Given the description of an element on the screen output the (x, y) to click on. 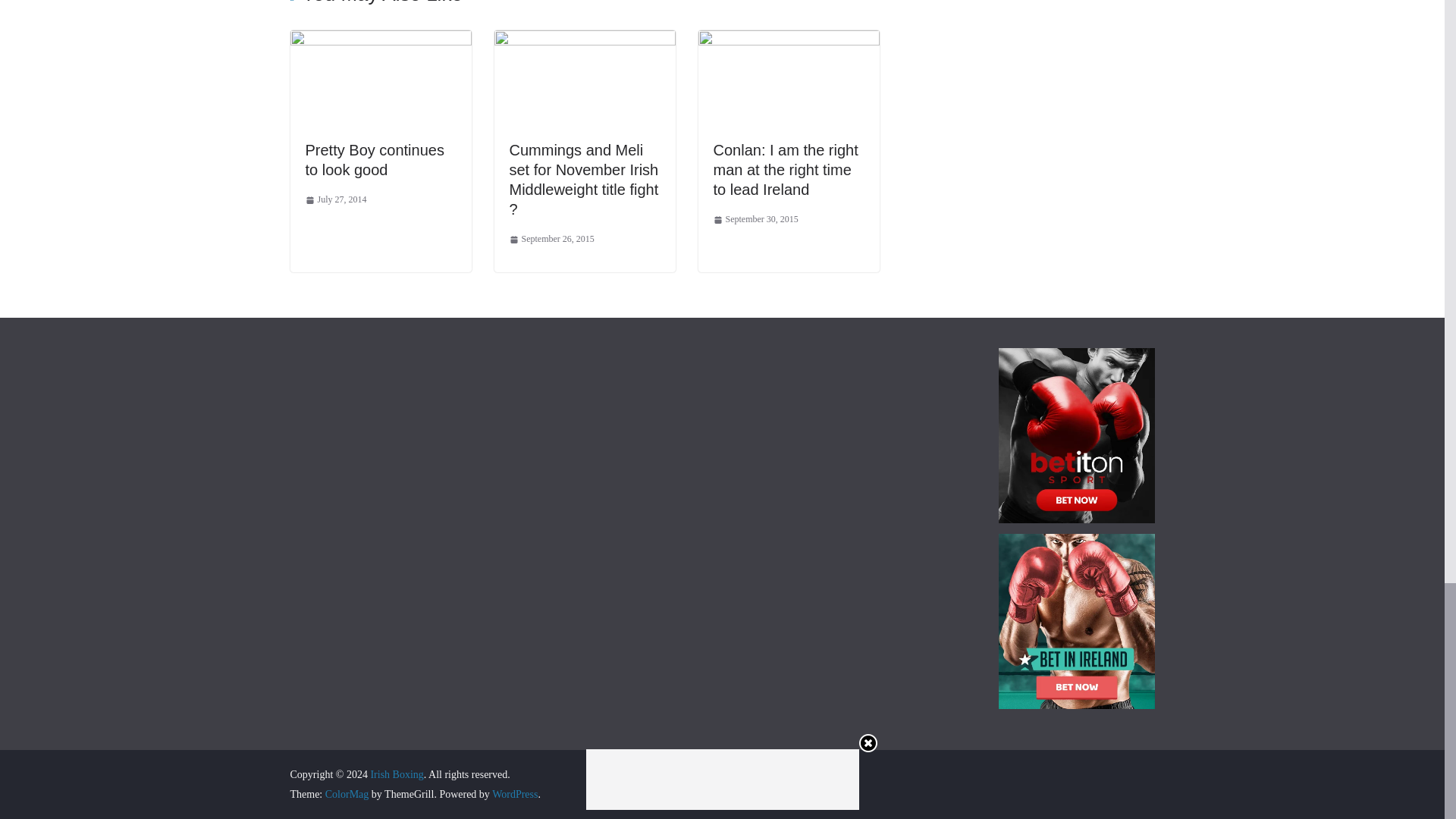
Pretty Boy continues to look good (374, 159)
Conlan: I am the right man at the right time to lead Ireland (785, 169)
2:01 pm (335, 199)
4:56 pm (551, 239)
Pretty Boy continues to look good (374, 159)
September 30, 2015 (755, 219)
1:11 pm (755, 219)
September 26, 2015 (551, 239)
Pretty Boy continues to look good (379, 40)
Conlan: I am the right man at the right time to lead Ireland (788, 40)
July 27, 2014 (335, 199)
Conlan: I am the right man at the right time to lead Ireland (785, 169)
